Given the description of an element on the screen output the (x, y) to click on. 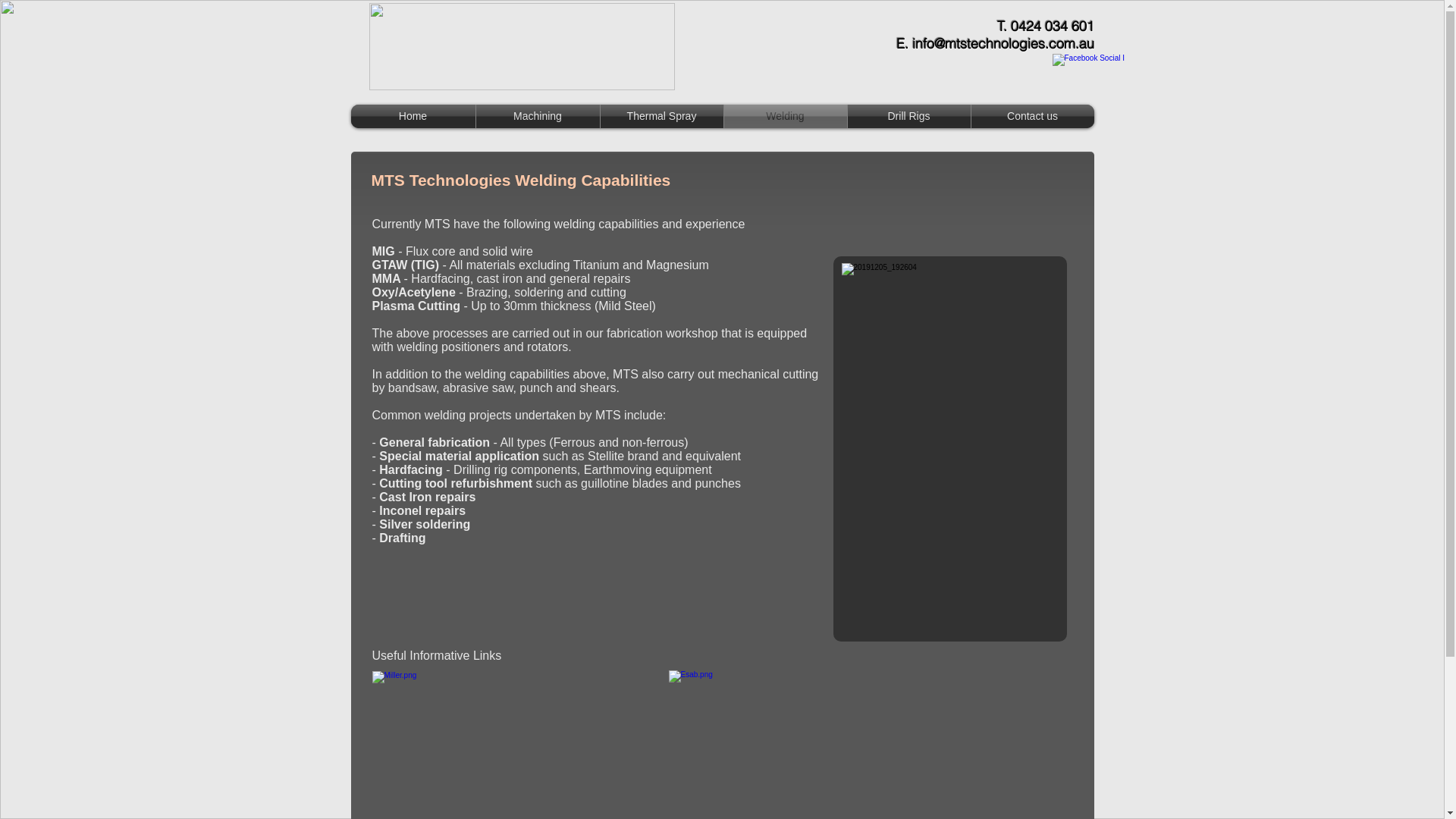
Machining Element type: text (537, 116)
Drill Rigs Element type: text (908, 116)
Contact us Element type: text (1031, 116)
Home Element type: text (412, 116)
Welding Element type: text (784, 116)
Thermal Spray Element type: text (661, 116)
